Given the description of an element on the screen output the (x, y) to click on. 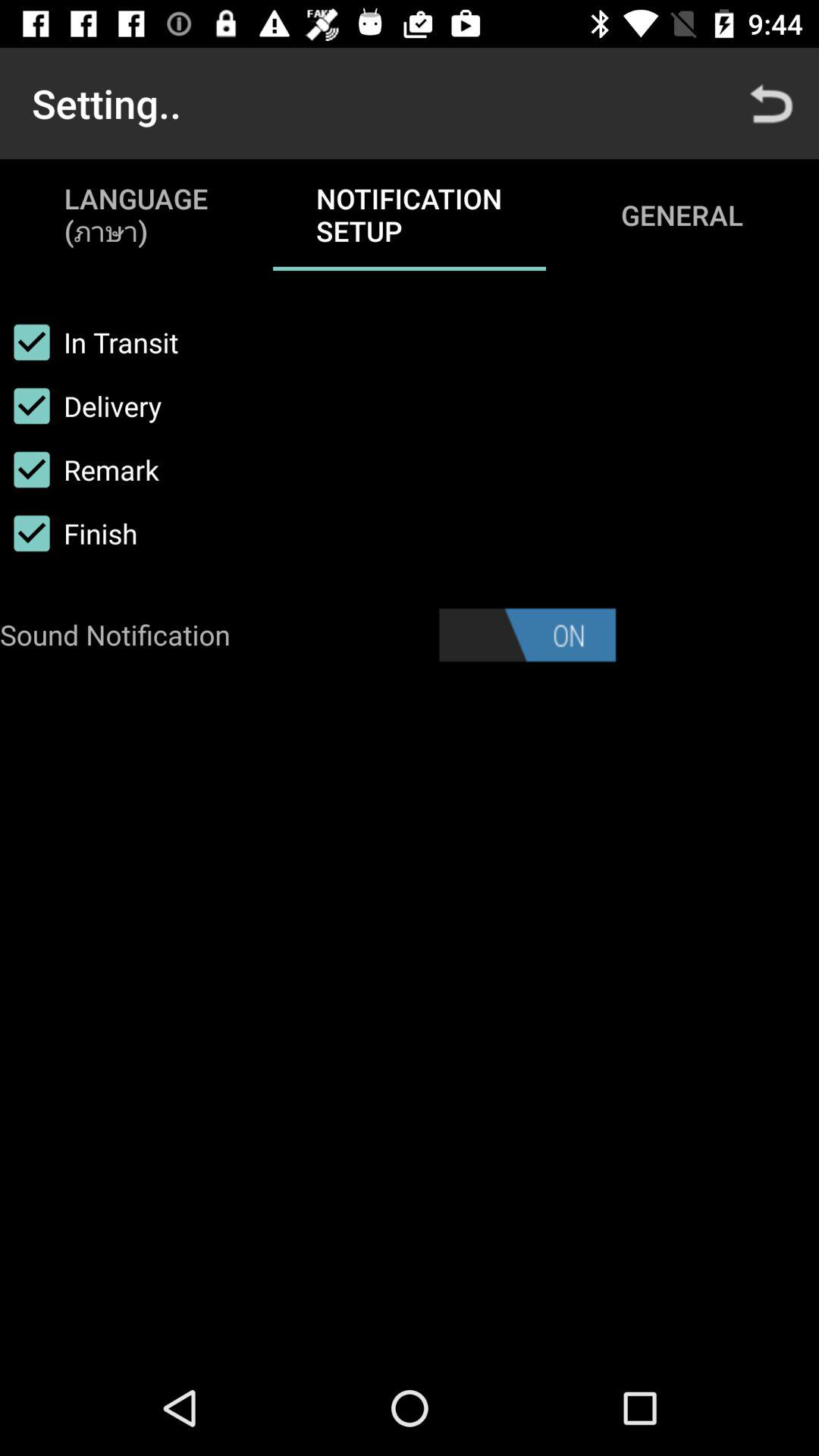
turn off the finish (68, 533)
